Given the description of an element on the screen output the (x, y) to click on. 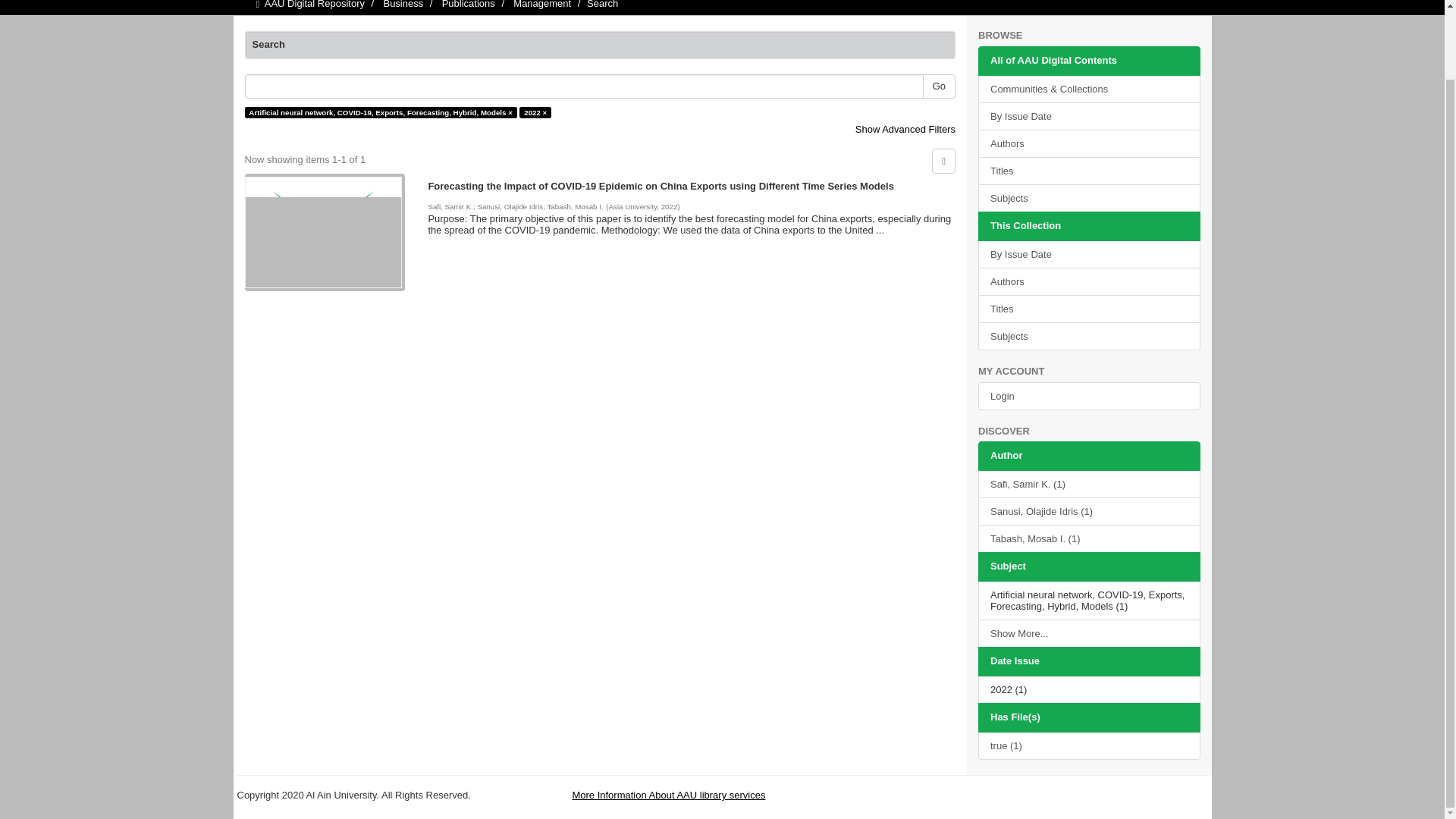
Publications (468, 4)
AAU Digital Repository (314, 4)
Management (541, 4)
Show Advanced Filters (905, 129)
Go (939, 86)
Business (402, 4)
